Given the description of an element on the screen output the (x, y) to click on. 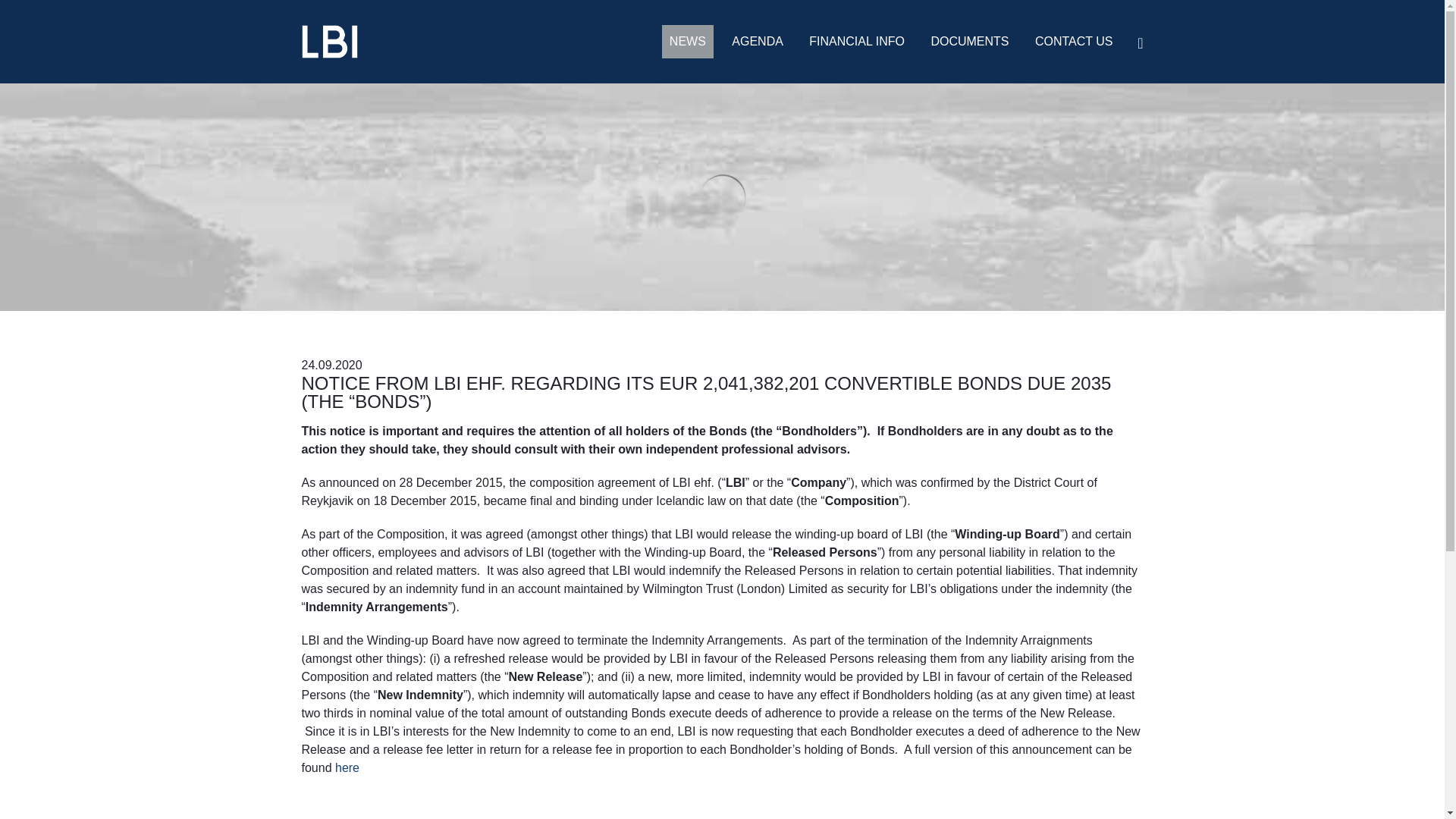
DOCUMENTS (969, 41)
FINANCIAL INFO (857, 41)
here (346, 767)
NEWS (687, 41)
here (346, 767)
AGENDA (756, 41)
CONTACT US (1074, 41)
